Given the description of an element on the screen output the (x, y) to click on. 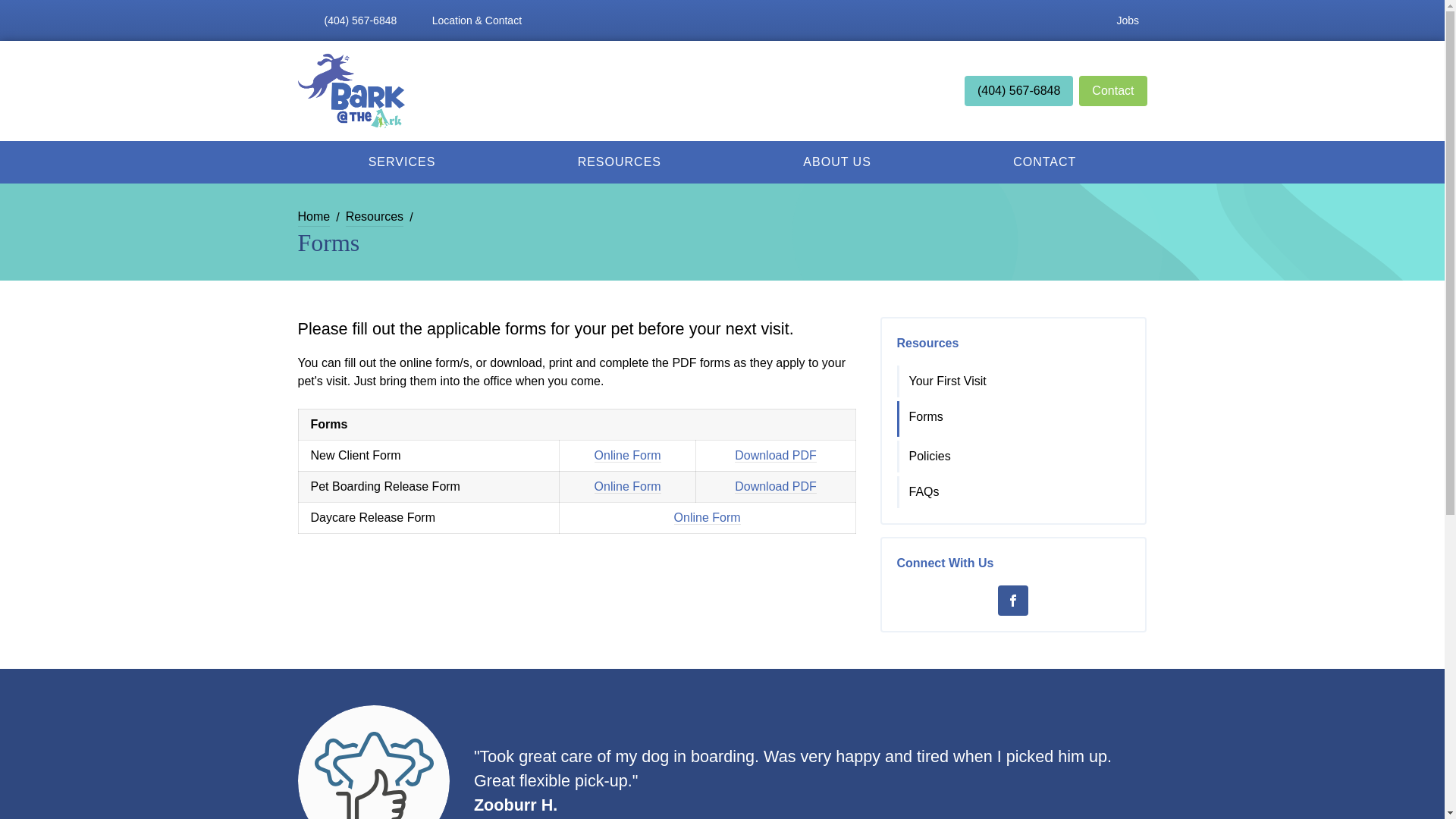
Facebook (1012, 600)
Policies (1015, 456)
Download PDF (775, 486)
RESOURCES (619, 162)
Download PDF (775, 455)
Resources (927, 342)
Contact (1112, 91)
Resources (374, 217)
Forms (1015, 417)
Your First Visit (1015, 381)
Online Form (707, 517)
SERVICES (401, 162)
Online Form (627, 486)
Jobs (1127, 20)
Home (313, 217)
